Given the description of an element on the screen output the (x, y) to click on. 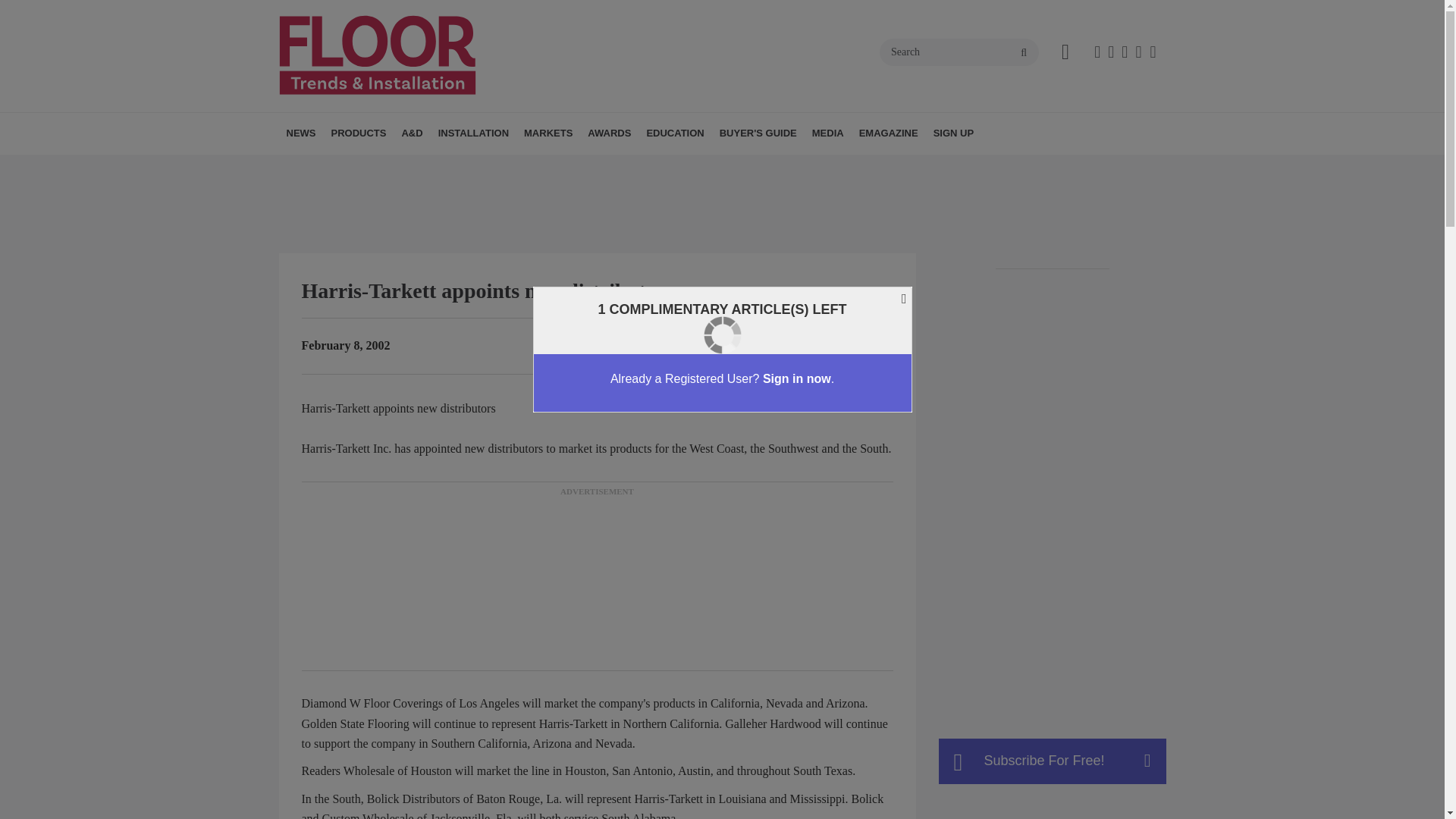
MARKETS (547, 133)
SPECIALTY (451, 166)
BREAKING FLOORING NEWS (373, 166)
INSTALLATION AWARDS (674, 166)
INSTALLATION PRODUCTS (430, 166)
INSTALLATION (473, 133)
Search (959, 52)
PRODUCTS (358, 133)
FEATURED PRODUCTS (457, 166)
EDUCATION (675, 133)
